Given the description of an element on the screen output the (x, y) to click on. 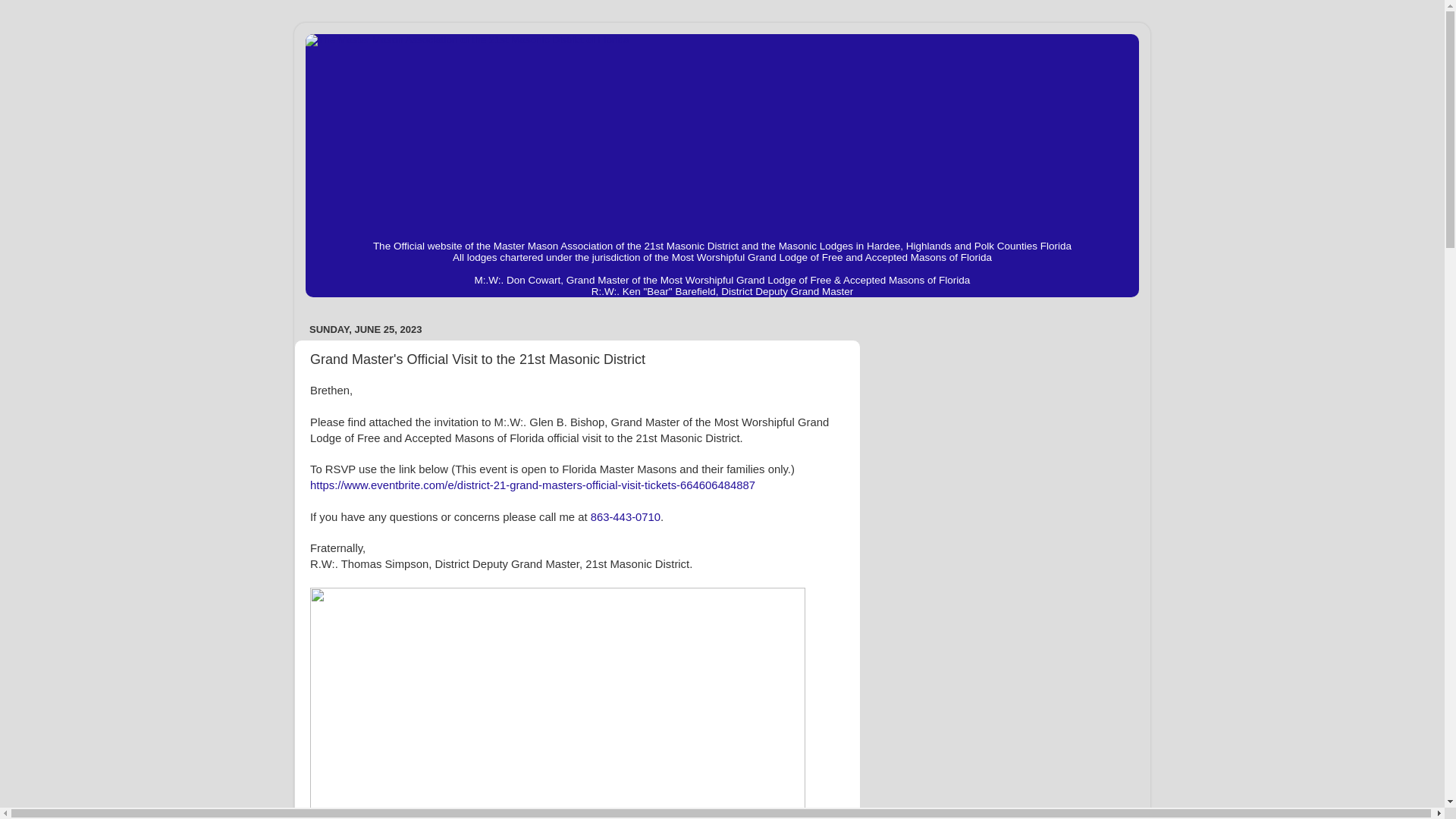
863-443-0710 (626, 517)
